Given the description of an element on the screen output the (x, y) to click on. 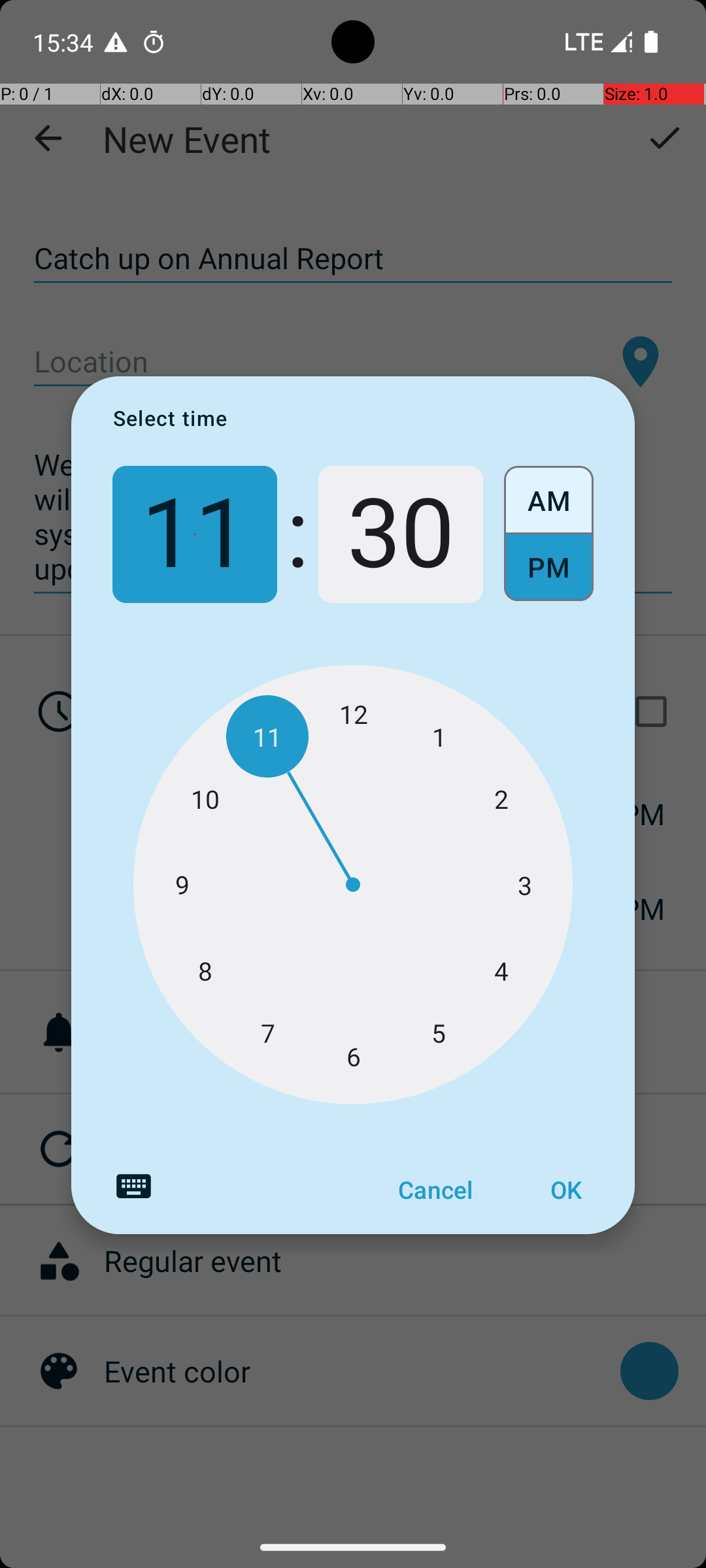
Select AM or PM Element type: android.widget.LinearLayout (548, 534)
